Given the description of an element on the screen output the (x, y) to click on. 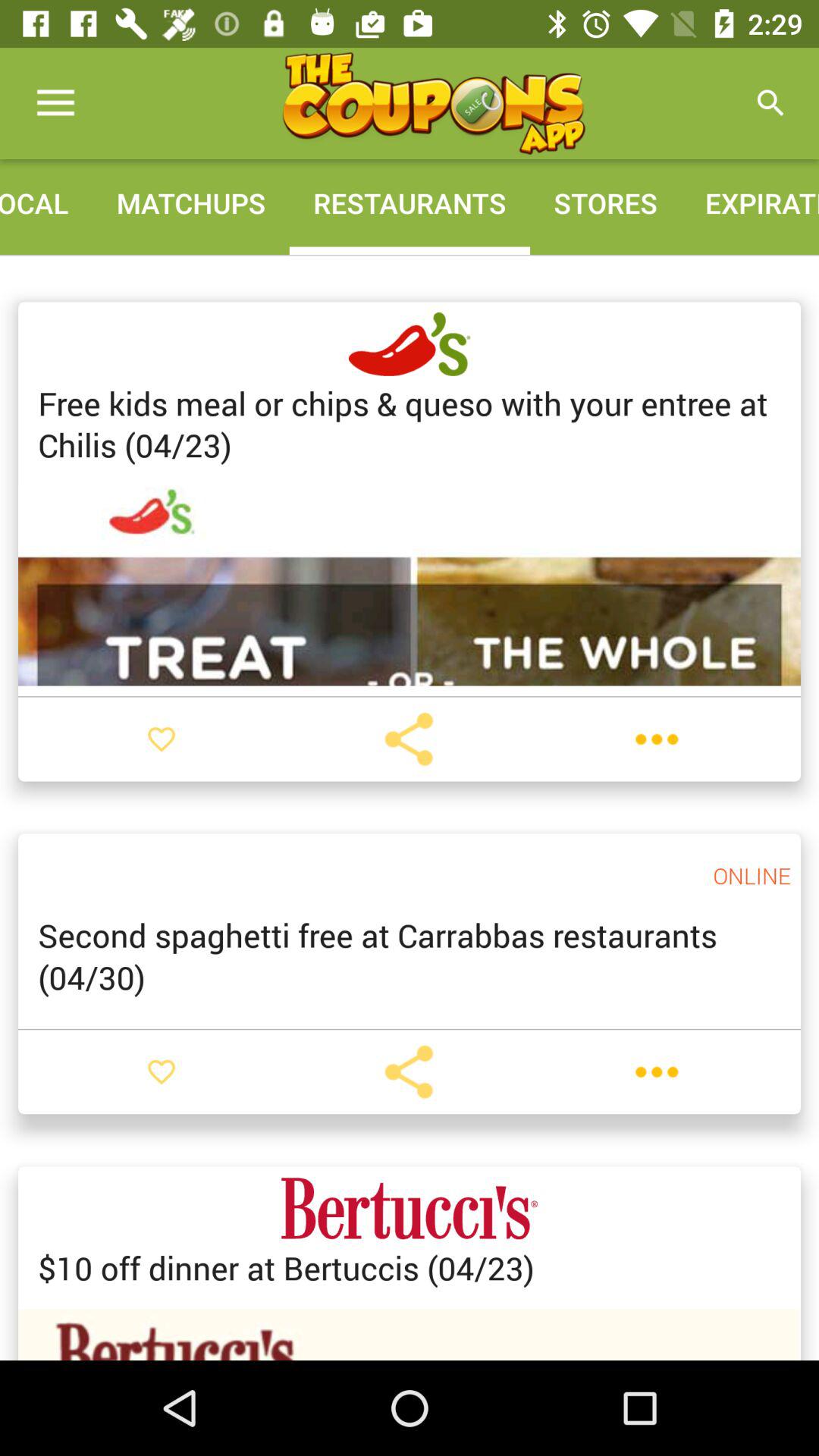
choose icon above local item (55, 103)
